Given the description of an element on the screen output the (x, y) to click on. 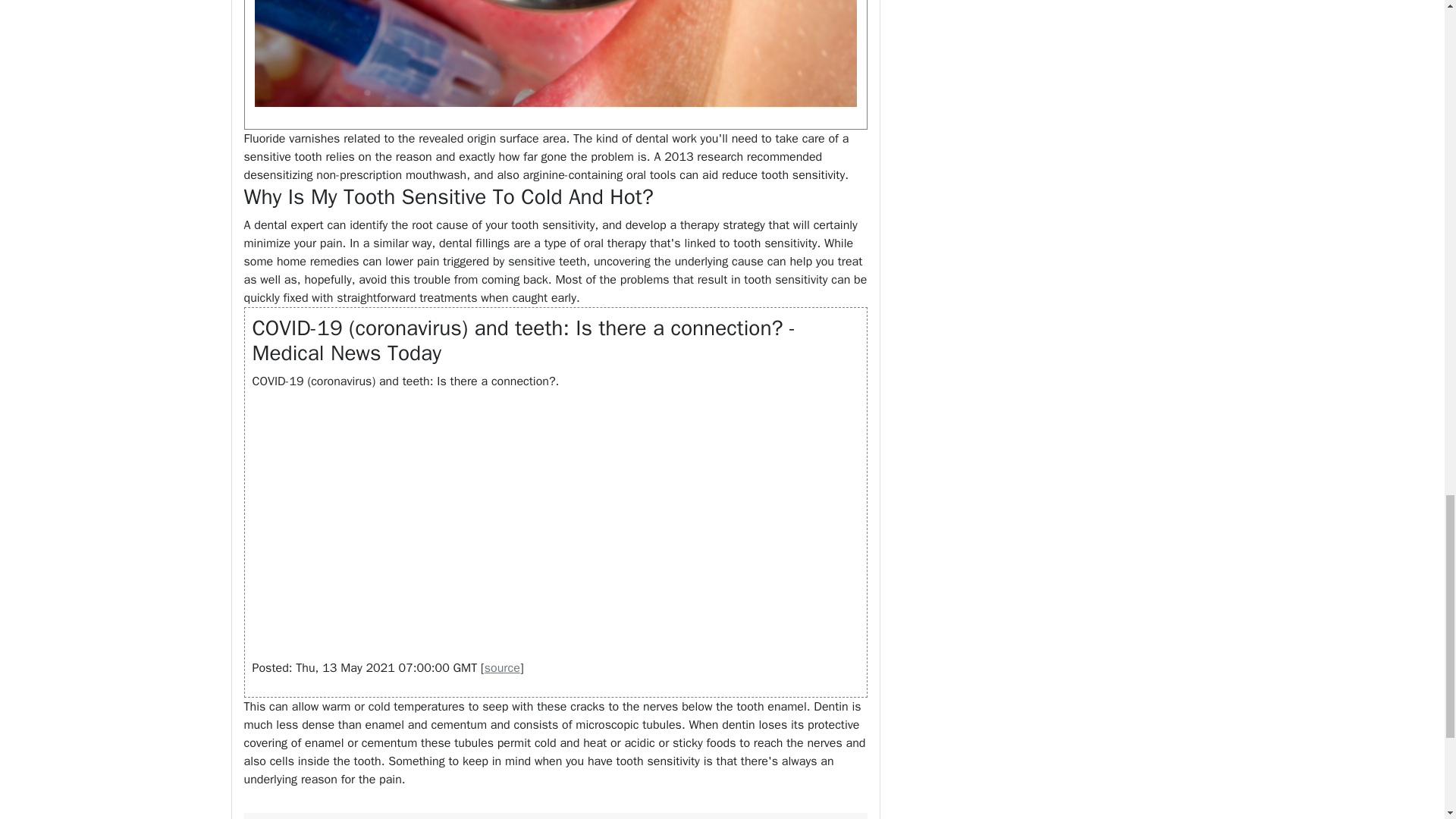
source (501, 667)
